Given the description of an element on the screen output the (x, y) to click on. 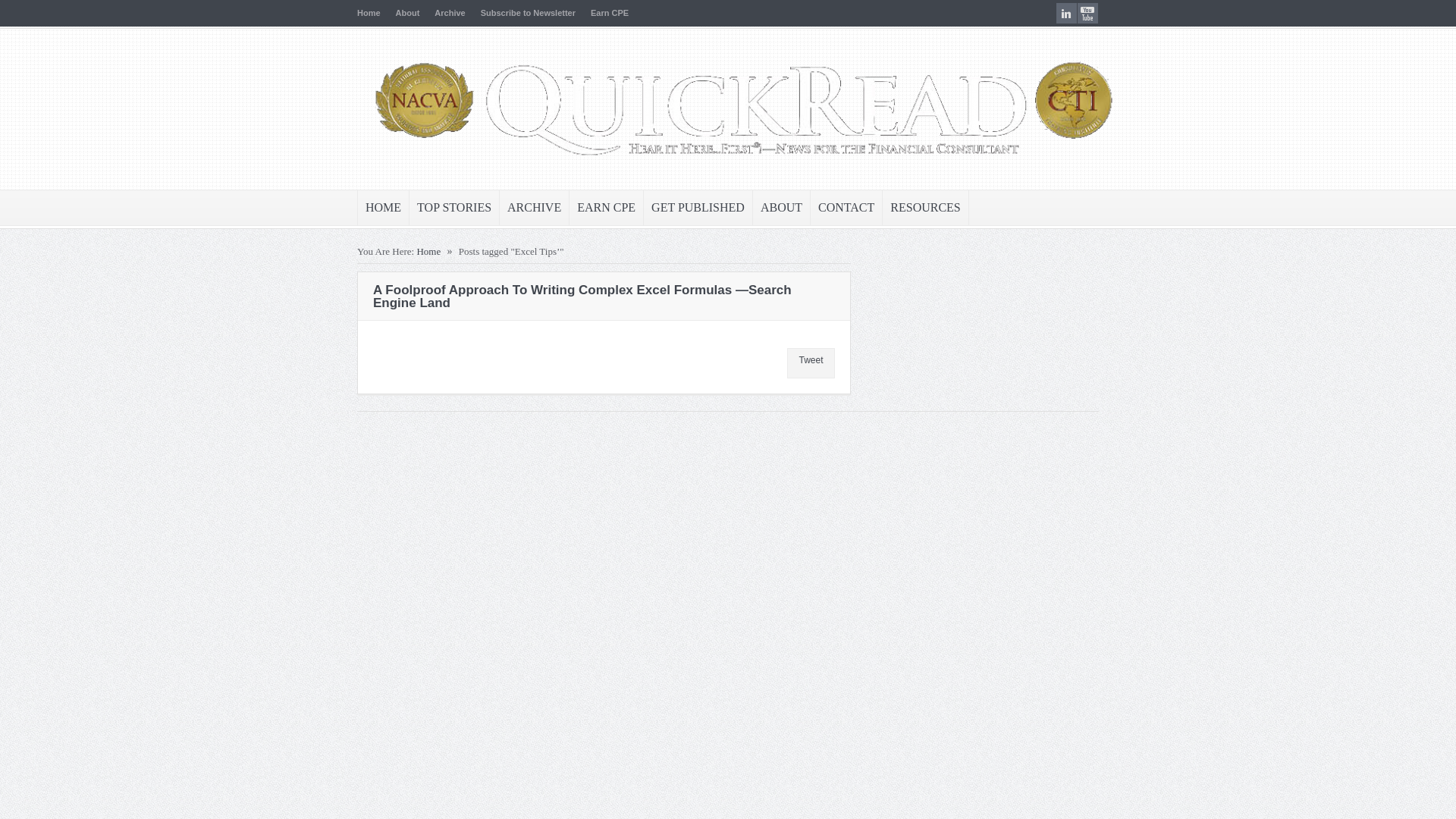
LinkedIn (1067, 13)
Earn CPE (609, 12)
RESOURCES (925, 207)
About (408, 12)
EARN CPE (606, 207)
ARCHIVE (534, 207)
ABOUT (780, 207)
Archive (448, 12)
GET PUBLISHED (697, 207)
Home (428, 251)
